Given the description of an element on the screen output the (x, y) to click on. 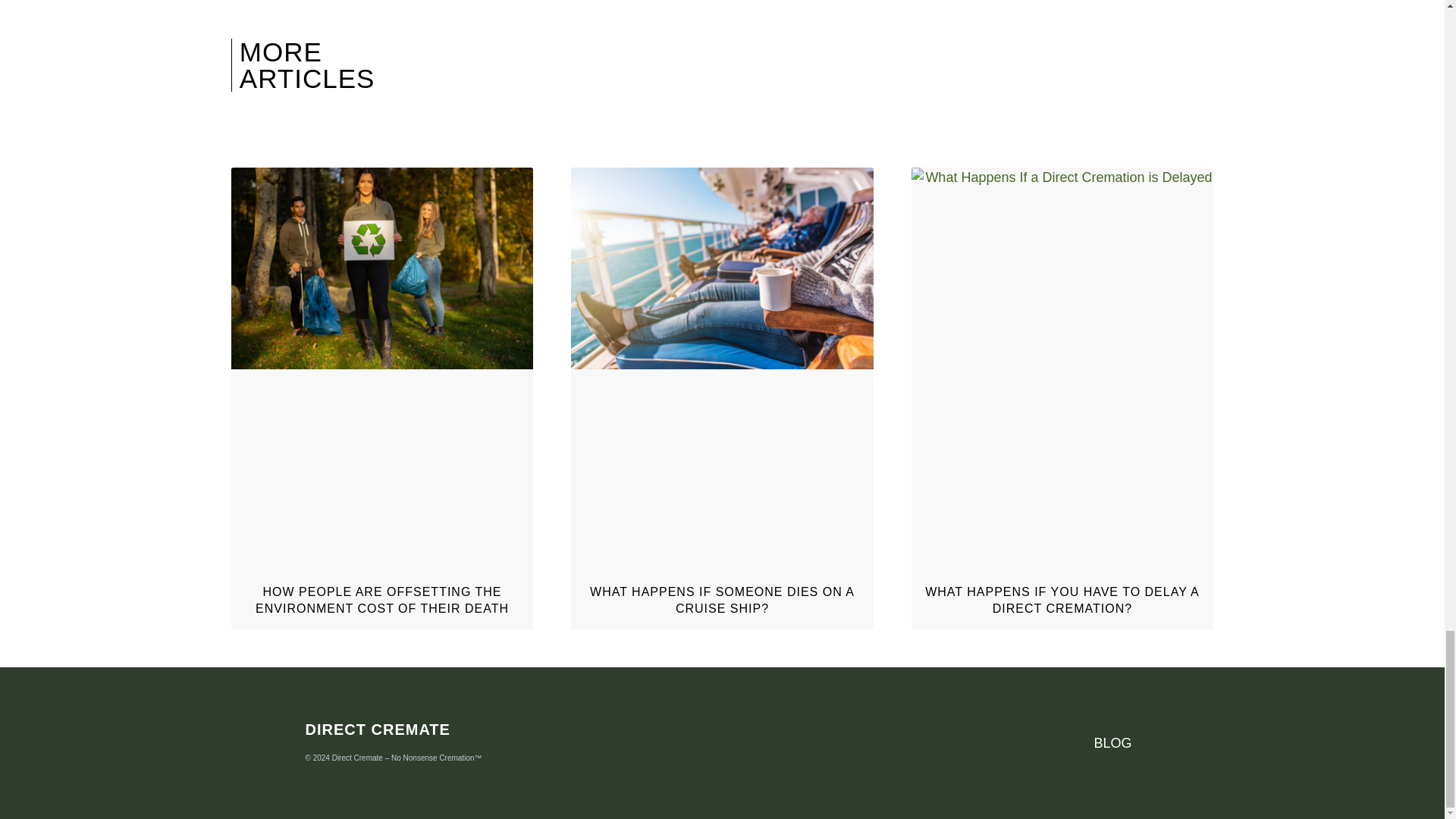
DIRECT CREMATE (376, 729)
BLOG (1112, 742)
WHAT HAPPENS IF SOMEONE DIES ON A CRUISE SHIP? (721, 600)
WHAT HAPPENS IF YOU HAVE TO DELAY A DIRECT CREMATION? (1061, 600)
